Given the description of an element on the screen output the (x, y) to click on. 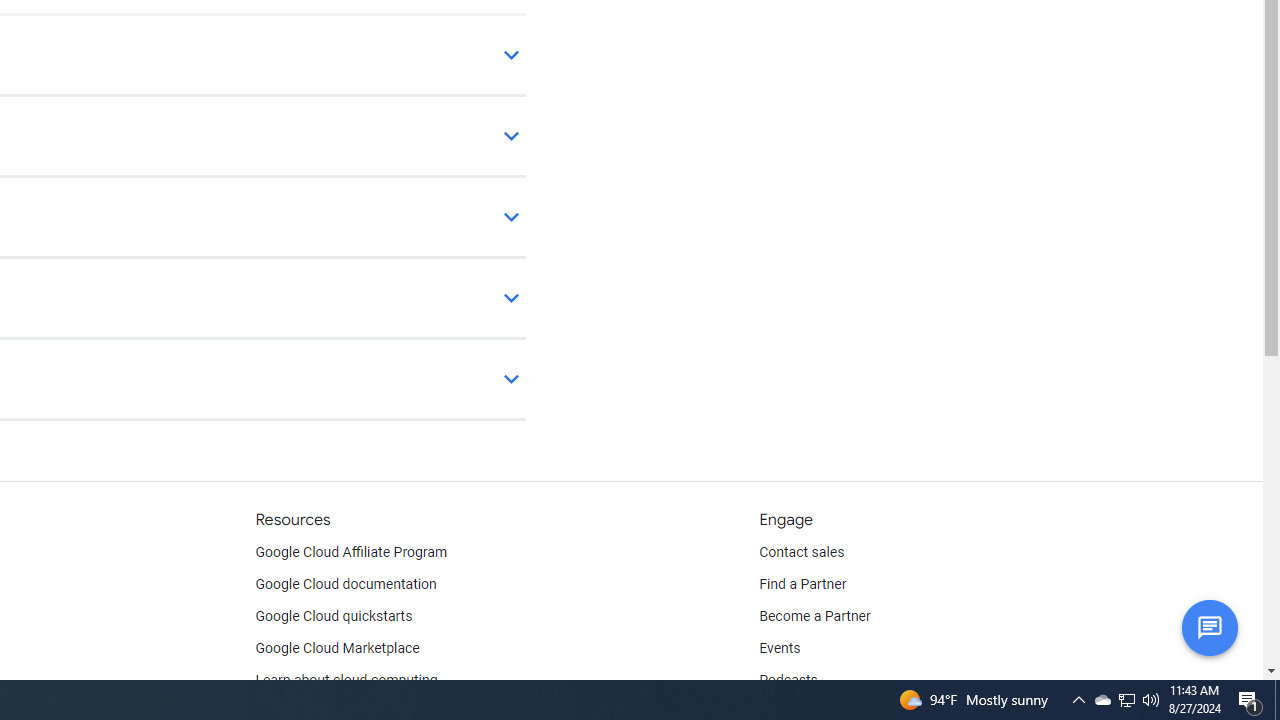
Google Cloud Affiliate Program (351, 552)
Events (780, 648)
Button to activate chat (1209, 627)
Podcasts (788, 680)
Contact sales (801, 552)
Google Cloud quickstarts (333, 616)
Google Cloud documentation (345, 584)
Find a Partner (803, 584)
Google Cloud Marketplace (336, 648)
Learn about cloud computing (345, 680)
Become a Partner (814, 616)
